Given the description of an element on the screen output the (x, y) to click on. 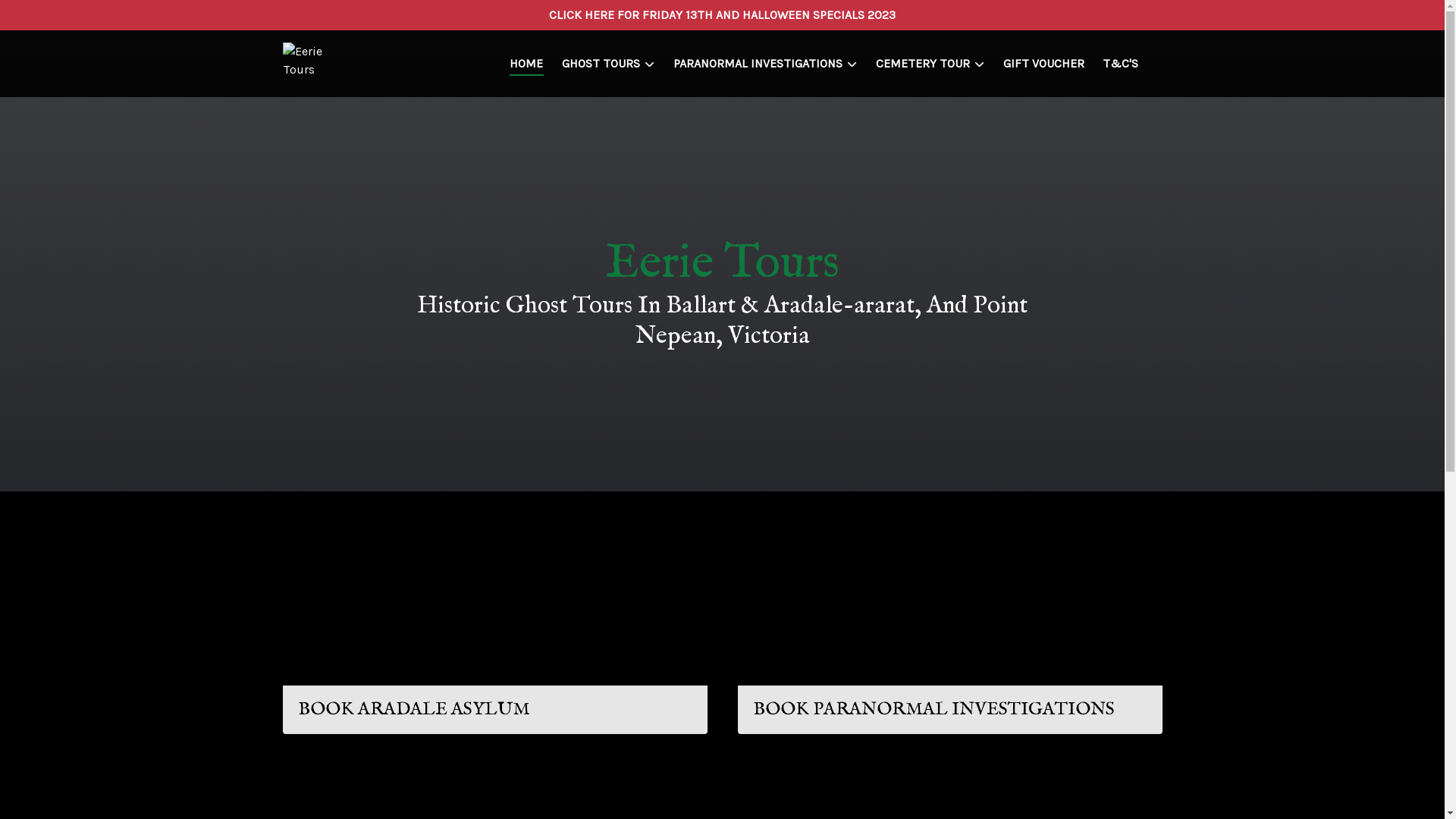
BOOK ARADALE ASYLUM Element type: text (494, 643)
PARANORMAL INVESTIGATIONS Element type: text (765, 63)
HOME Element type: text (526, 63)
BOOK PARANORMAL INVESTIGATIONS Element type: text (949, 643)
Skip to content Element type: text (49, 16)
CLICK HERE FOR FRIDAY 13TH AND HALLOWEEN SPECIALS 2023 Element type: text (722, 15)
Skip to footer Element type: text (44, 16)
GIFT VOUCHER Element type: text (1042, 63)
Skip to primary navigation Element type: text (80, 16)
T&C'S Element type: text (1120, 63)
GHOST TOURS Element type: text (607, 63)
CEMETERY TOUR Element type: text (929, 63)
